Given the description of an element on the screen output the (x, y) to click on. 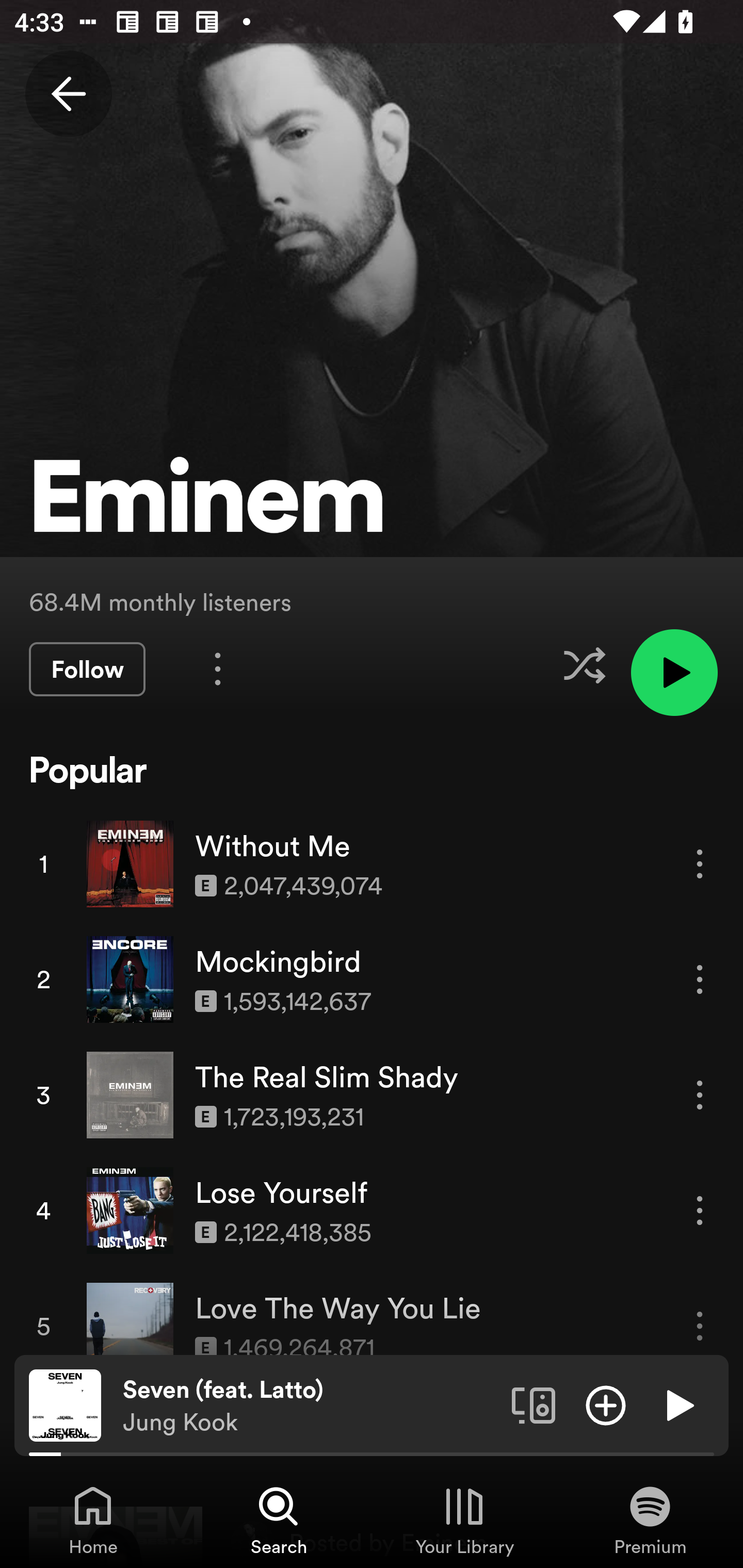
Back (68, 93)
Enable shuffle for this artist (583, 665)
More options for artist Eminem (217, 668)
Play artist (674, 672)
Follow (86, 669)
More options for song Without Me (699, 863)
More options for song Mockingbird (699, 979)
More options for song The Real Slim Shady (699, 1095)
More options for song Lose Yourself (699, 1210)
More options for song Love The Way You Lie (699, 1325)
Seven (feat. Latto) Jung Kook (309, 1405)
The cover art of the currently playing track (64, 1404)
Connect to a device. Opens the devices menu (533, 1404)
Add item (605, 1404)
Play (677, 1404)
Home, Tab 1 of 4 Home Home (92, 1519)
Search, Tab 2 of 4 Search Search (278, 1519)
Your Library, Tab 3 of 4 Your Library Your Library (464, 1519)
Premium, Tab 4 of 4 Premium Premium (650, 1519)
